Given the description of an element on the screen output the (x, y) to click on. 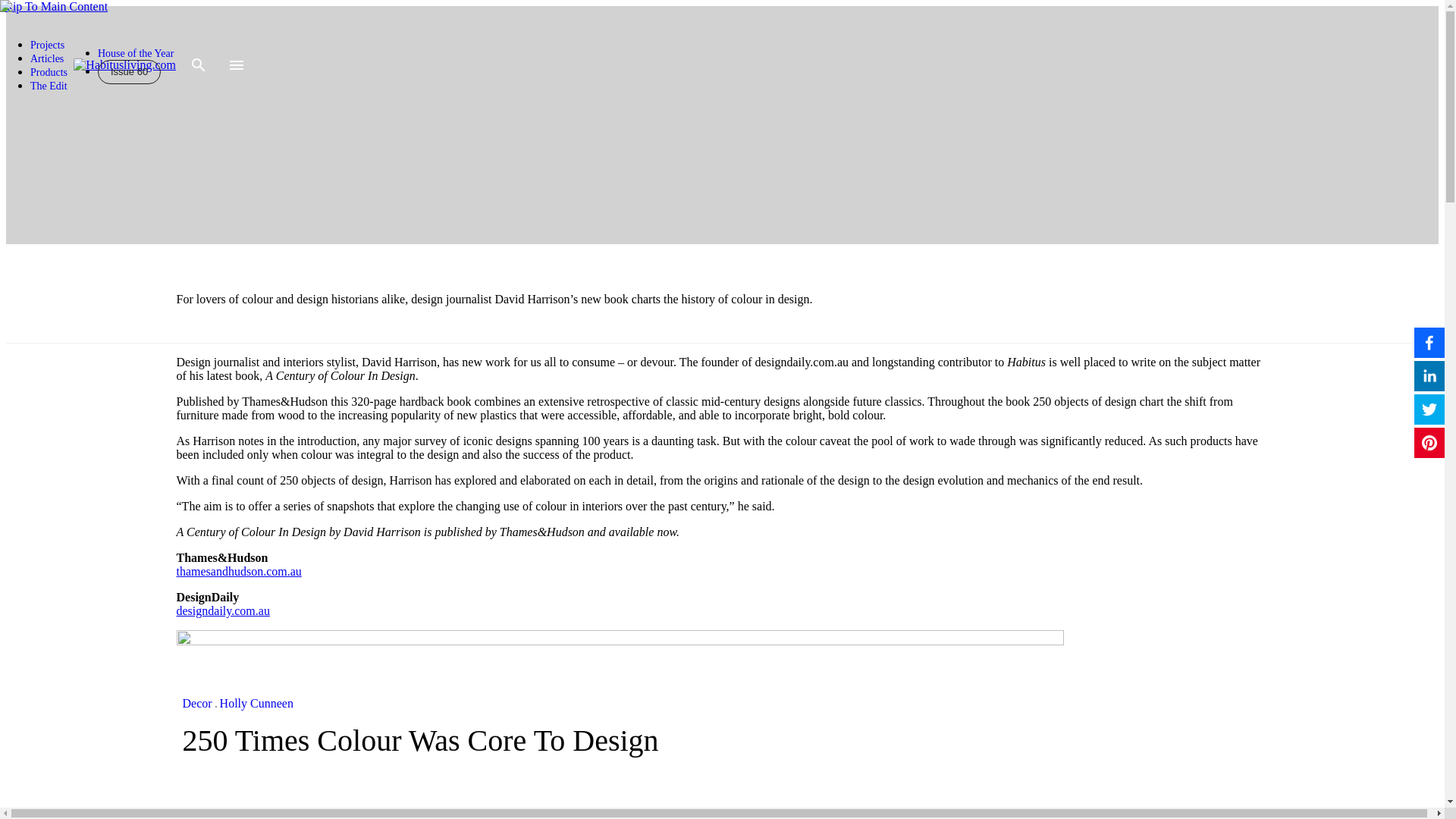
Articles (47, 58)
Decor (196, 703)
House of the Year (135, 52)
Skip To Main Content (53, 6)
Products (48, 71)
Holly Cunneen (256, 703)
The Edit (48, 85)
Projects (47, 44)
Issue 60 (128, 72)
